Given the description of an element on the screen output the (x, y) to click on. 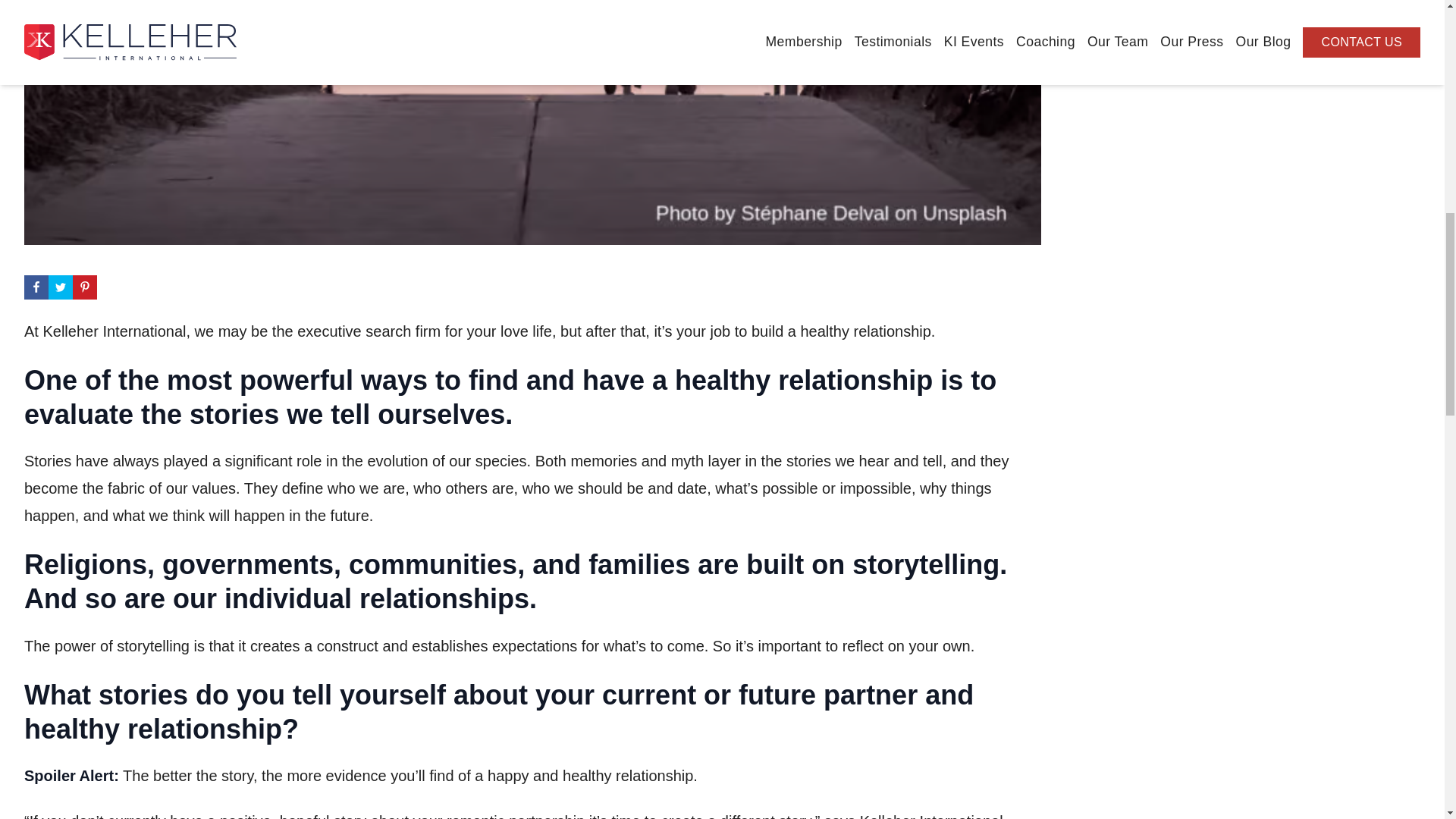
Share on Twitter (60, 287)
Share on Facebook (36, 287)
Share on Pinterest (84, 287)
